Given the description of an element on the screen output the (x, y) to click on. 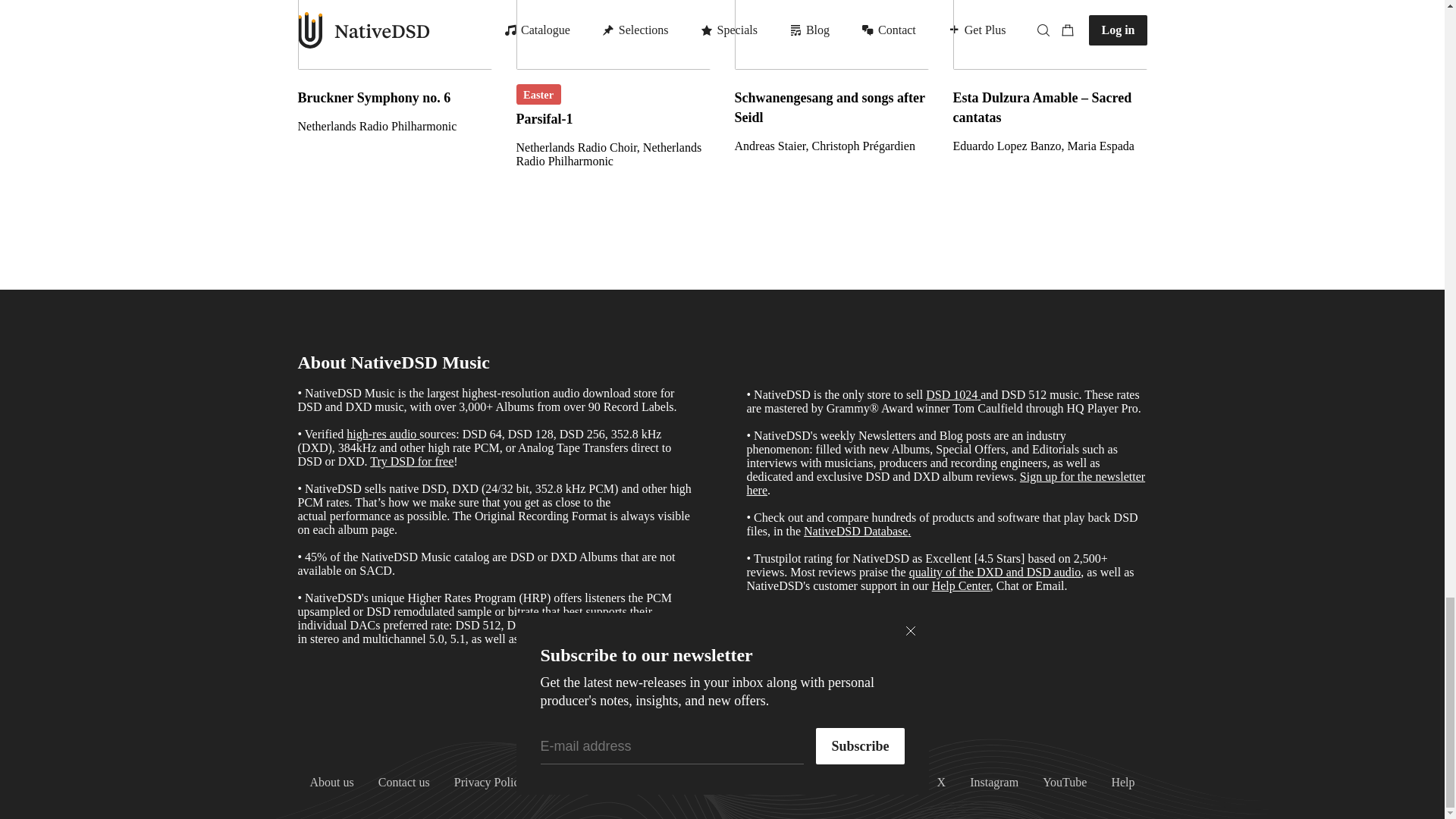
Parsifal-1 (612, 118)
Parsifal-1 (612, 34)
Bruckner Symphony no. 6 (394, 34)
Schwanengesang and songs after Seidl (830, 107)
Bruckner Symphony no. 6 (394, 126)
Parsifal-1 (612, 154)
Bruckner Symphony no. 6 (394, 97)
Schwanengesang and songs after Seidl (830, 34)
Schwanengesang and songs after Seidl (830, 146)
